Given the description of an element on the screen output the (x, y) to click on. 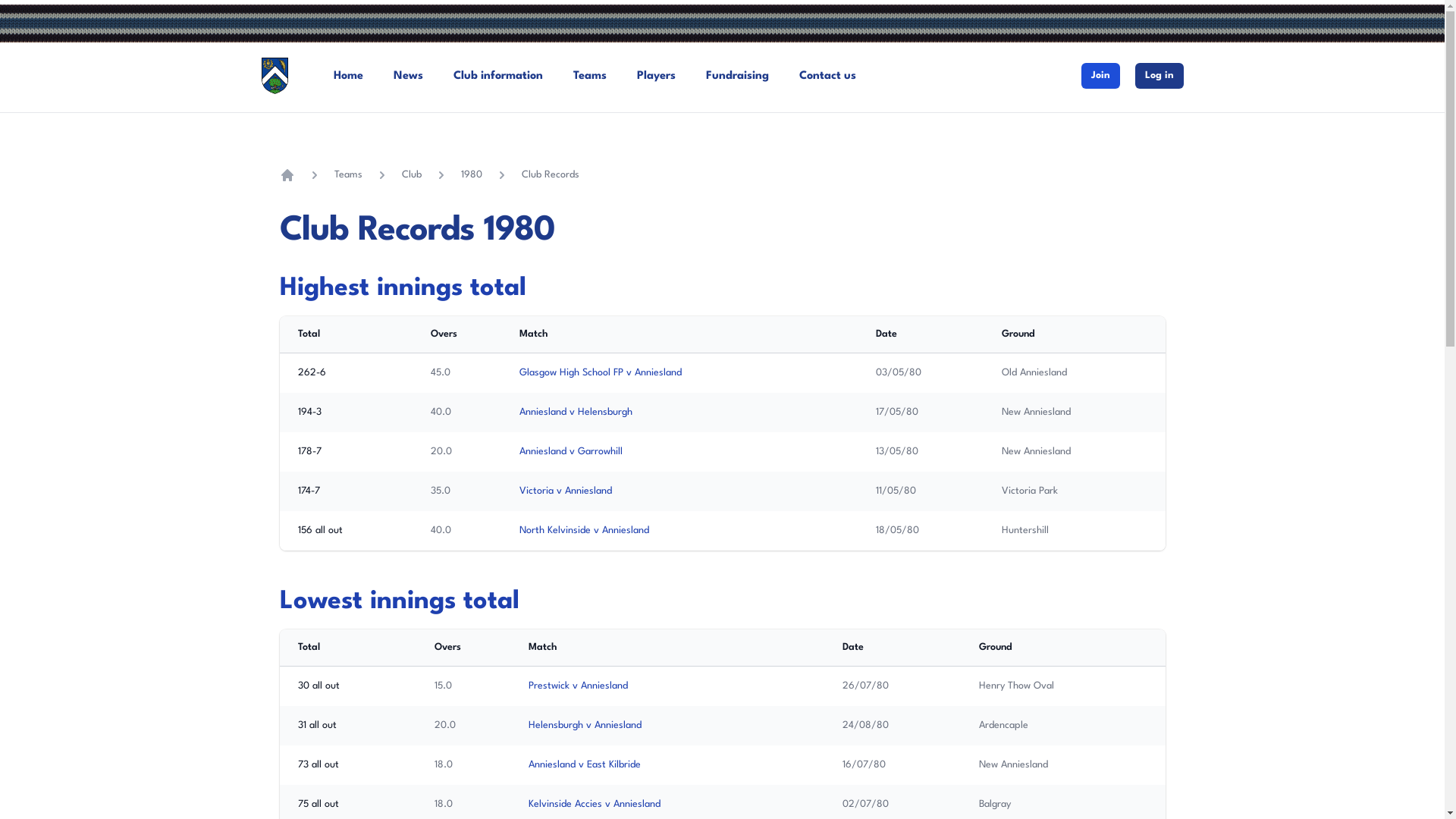
Helensburgh v Anniesland Element type: text (584, 725)
1980 Element type: text (471, 174)
Home Element type: text (286, 174)
Club information Element type: text (498, 75)
Fundraising Element type: text (736, 75)
Teams Element type: text (347, 174)
Club Records Element type: text (550, 174)
Log in Element type: text (1158, 75)
Anniesland v Helensburgh Element type: text (575, 412)
Glasgow High School FP v Anniesland Element type: text (600, 372)
North Kelvinside v Anniesland Element type: text (584, 530)
Join Element type: text (1100, 75)
Contact us Element type: text (827, 75)
Victoria v Anniesland Element type: text (565, 490)
Teams Element type: text (589, 75)
Anniesland v Garrowhill Element type: text (570, 451)
Club Element type: text (411, 174)
News Element type: text (408, 75)
Home Element type: text (348, 75)
Anniesland v East Kilbride Element type: text (584, 764)
Prestwick v Anniesland Element type: text (577, 685)
Kelvinside Accies v Anniesland Element type: text (594, 804)
Players Element type: text (655, 75)
